Given the description of an element on the screen output the (x, y) to click on. 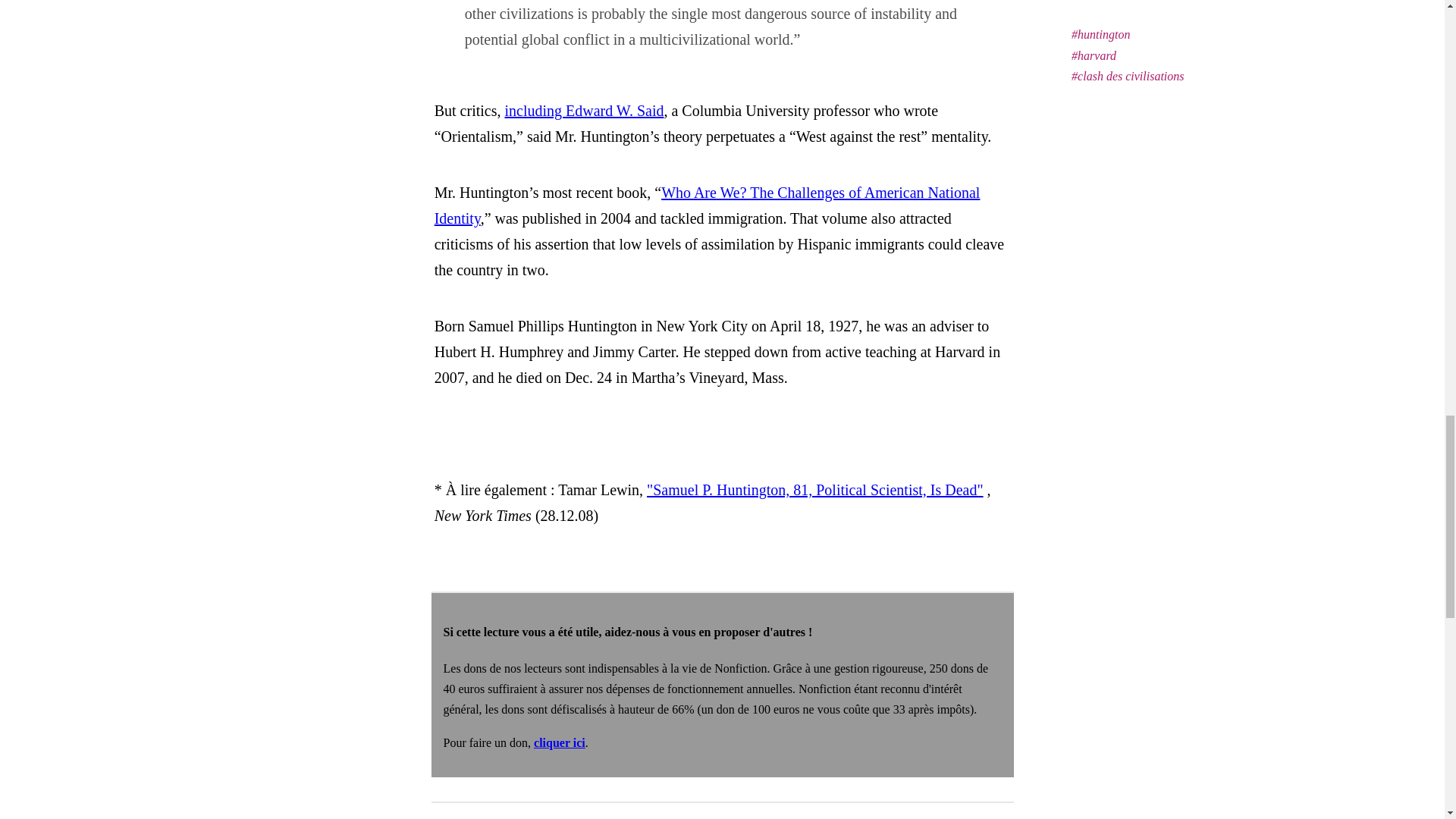
cliquer ici (559, 742)
including Edward W. Said (583, 110)
"Samuel P. Huntington, 81, Political Scientist, Is Dead" (815, 489)
Who Are We? The Challenges of American National Identity (706, 205)
